Given the description of an element on the screen output the (x, y) to click on. 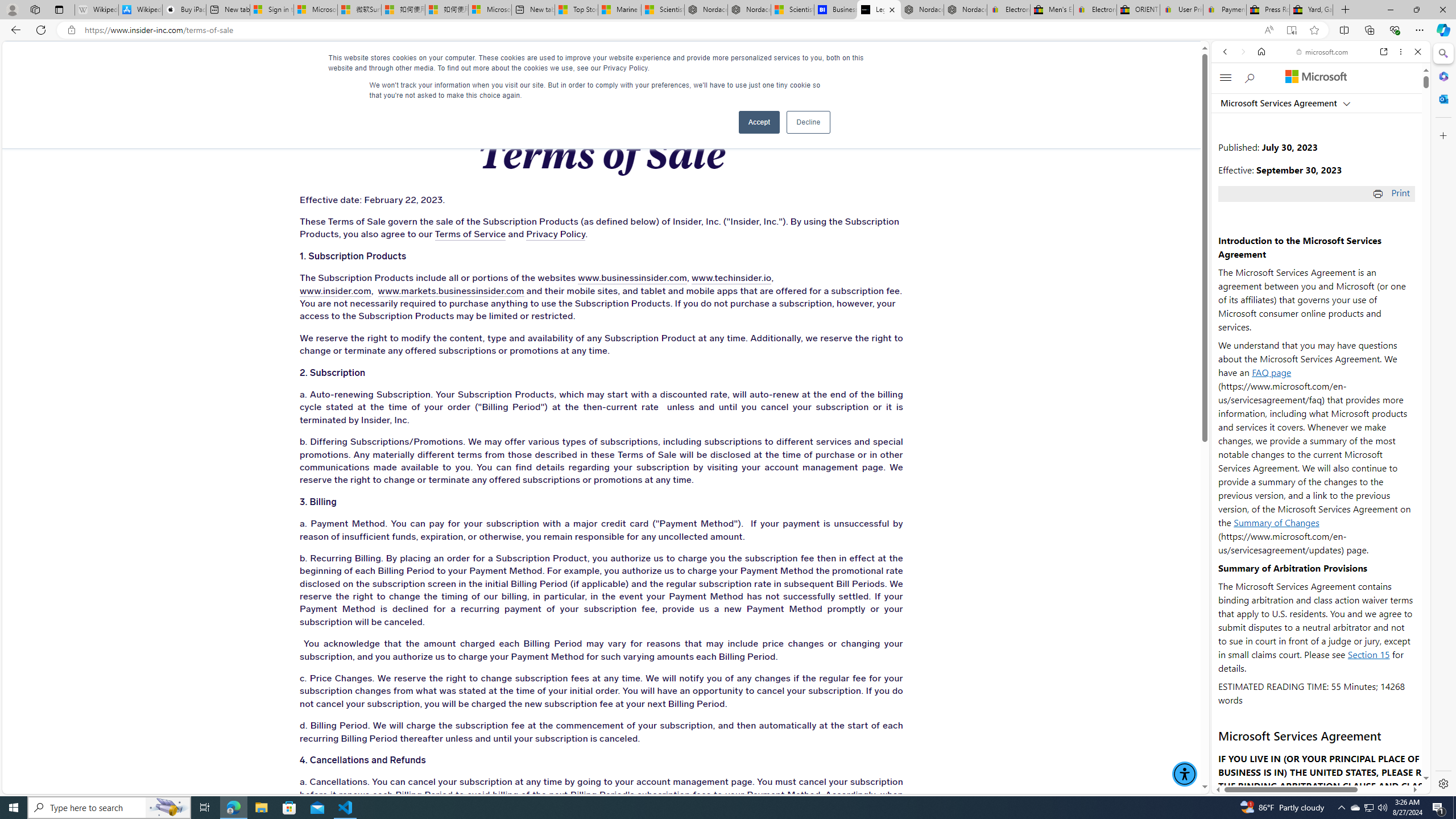
Section 15 (1368, 654)
www.businessinsider.com (632, 278)
Microsoft account | Account Checkup (489, 9)
Yard, Garden & Outdoor Living (1311, 9)
www.techinsider.io (731, 278)
